Given the description of an element on the screen output the (x, y) to click on. 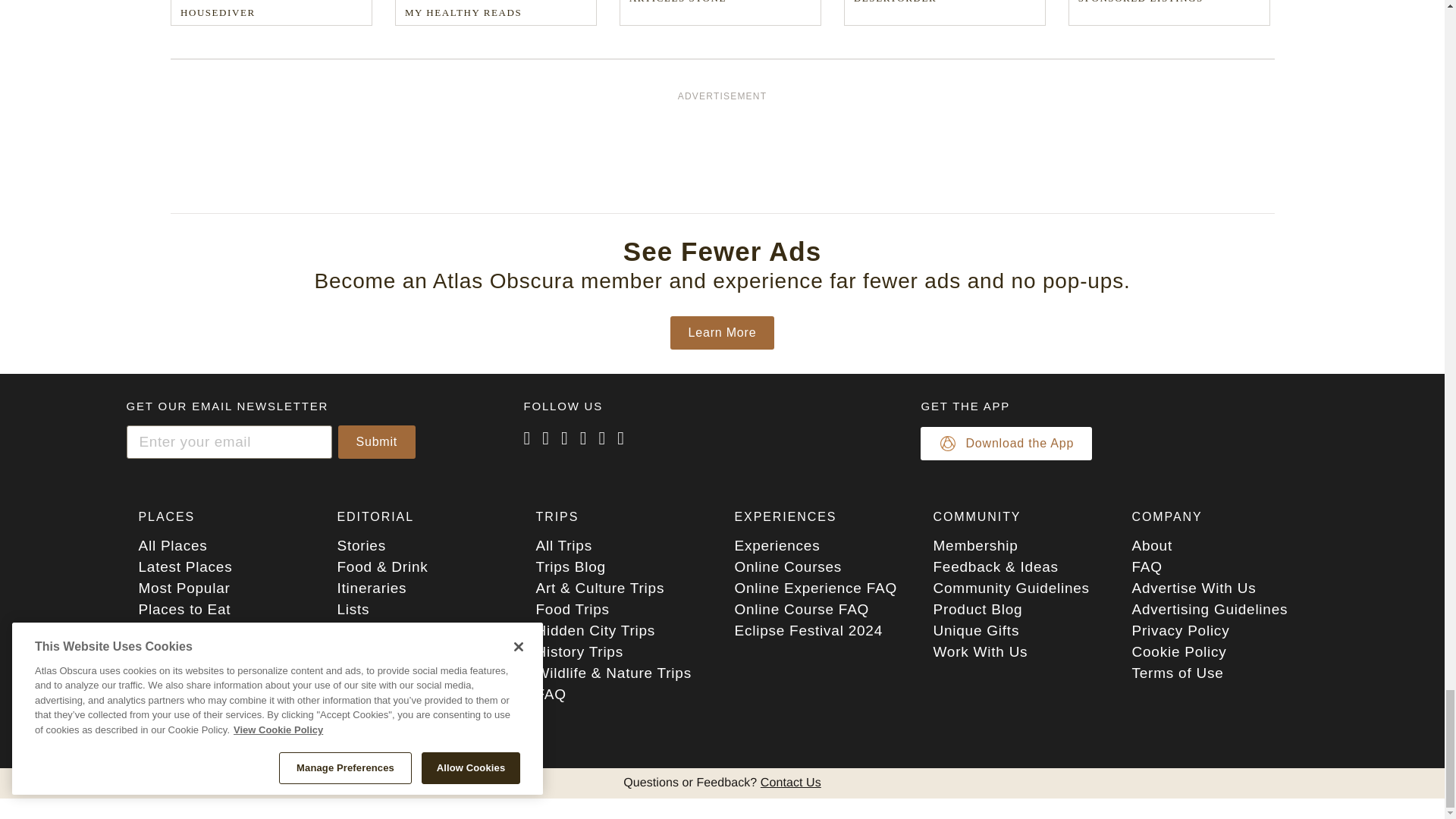
Submit (376, 441)
